Given the description of an element on the screen output the (x, y) to click on. 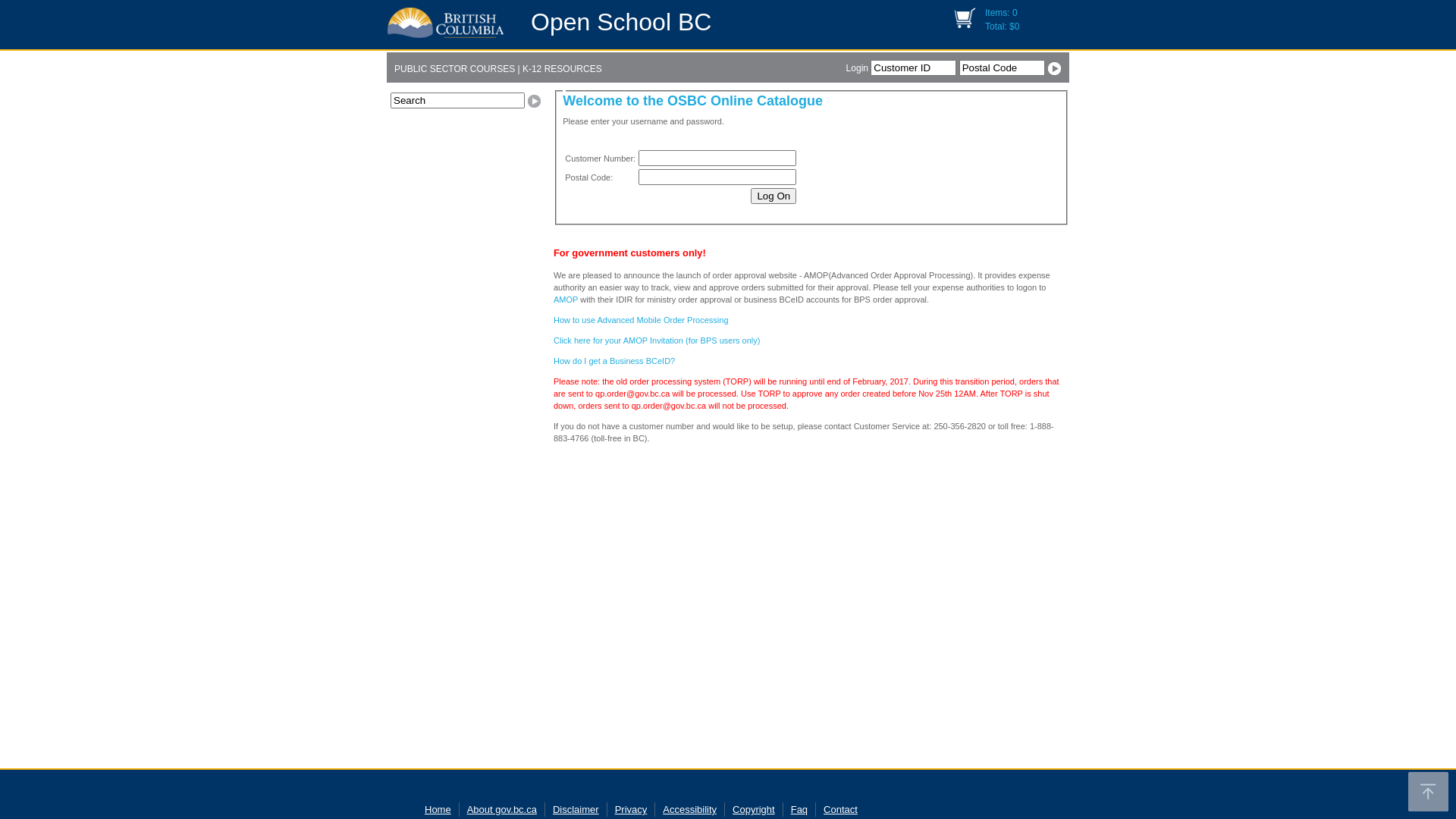
Accessibility Element type: text (689, 809)
Disclaimer Element type: text (575, 809)
Total: $0 Element type: text (1002, 26)
Privacy Element type: text (631, 809)
PUBLIC SECTOR COURSES Element type: text (454, 68)
Copyright Element type: text (753, 809)
Log On Element type: text (773, 195)
Items: 0 Element type: text (1001, 12)
Government of B.C. Element type: hover (445, 19)
Click here for your AMOP Invitation (for BPS users only) Element type: text (656, 340)
How do I get a Business BCeID? Element type: text (613, 360)
How to use Advanced Mobile Order Processing Element type: text (640, 319)
Contact Element type: text (840, 809)
Faq Element type: text (798, 809)
AMOP Element type: text (565, 299)
K-12 RESOURCES Element type: text (561, 68)
Back to top Element type: hover (1428, 791)
Home Element type: text (437, 809)
About gov.bc.ca Element type: text (501, 809)
